Given the description of an element on the screen output the (x, y) to click on. 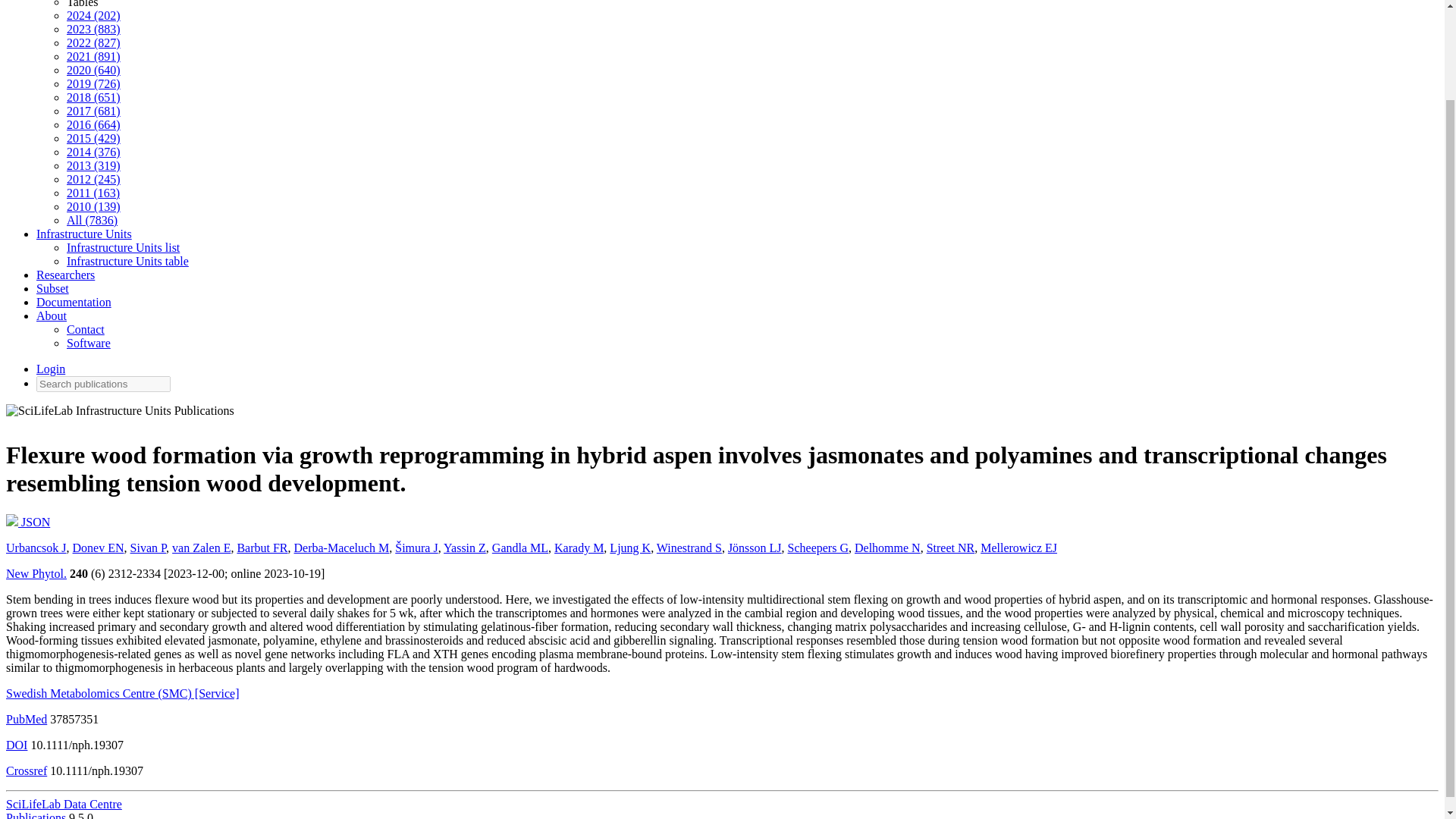
Derba-Maceluch M (342, 547)
About (51, 315)
Infrastructure Units table (127, 260)
Subset (52, 287)
JSON (27, 521)
van Zalen E (200, 547)
Donev EN (97, 547)
Infrastructure Units (84, 233)
Researchers (65, 274)
SciLifeLab Infrastructure Units Publications (119, 414)
